Given the description of an element on the screen output the (x, y) to click on. 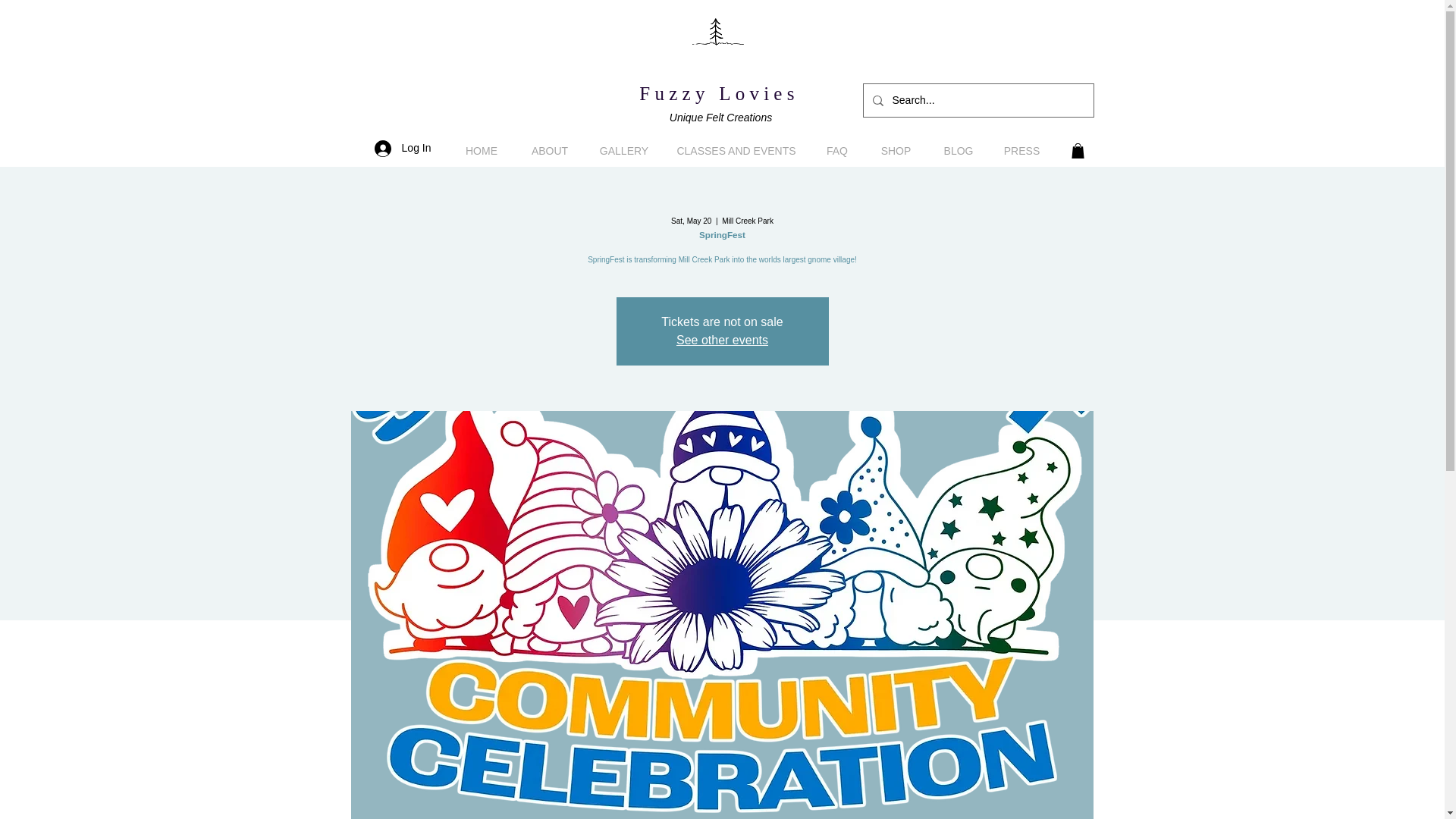
FAQ (836, 150)
ABOUT (549, 150)
BLOG (958, 150)
GALLERY (624, 150)
See other events (722, 339)
CLASSES AND EVENTS (735, 150)
Fuzzy Lovies (718, 93)
HOME (481, 150)
SHOP (895, 150)
PRESS (1022, 150)
Log In (403, 148)
